Given the description of an element on the screen output the (x, y) to click on. 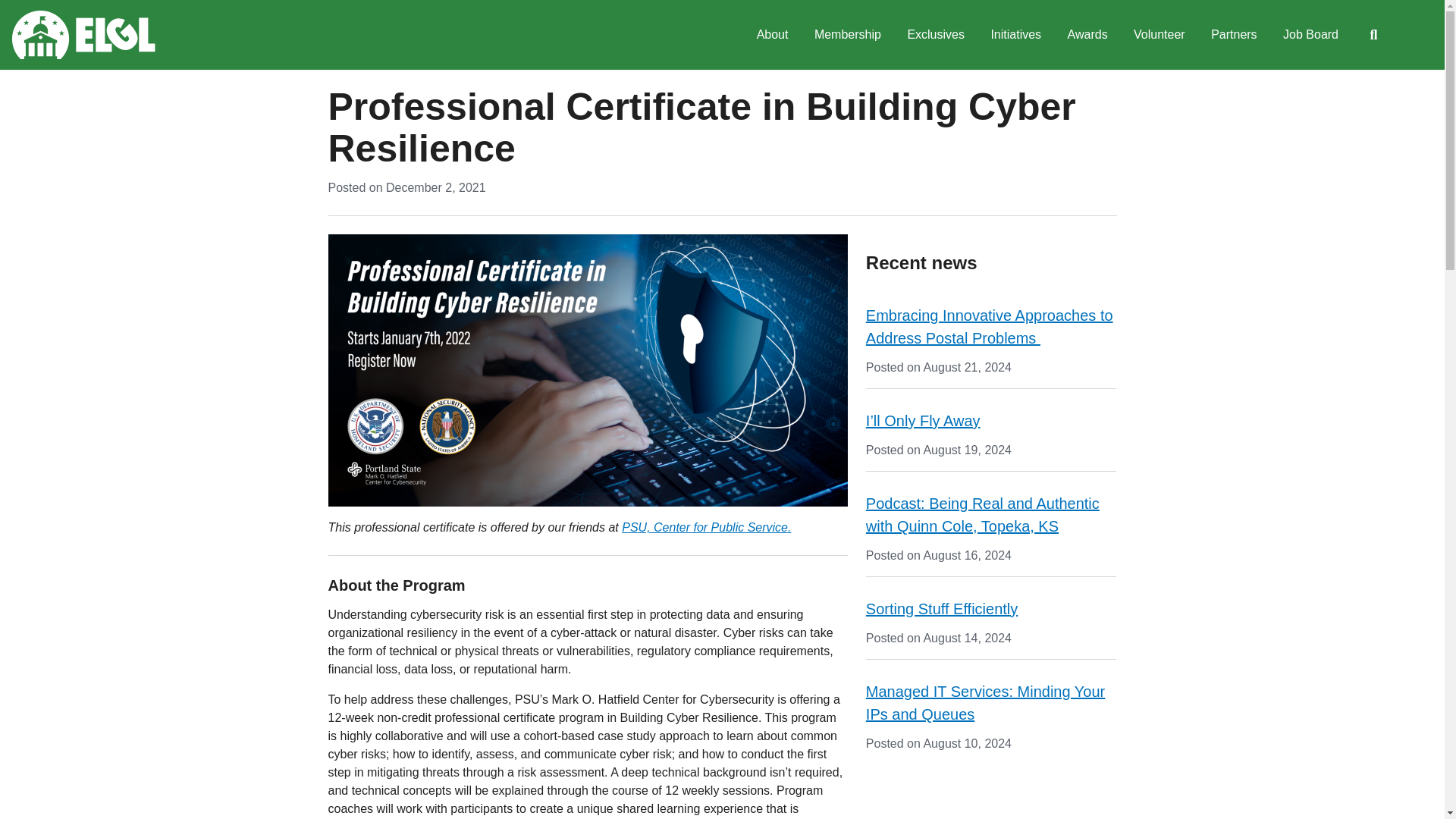
Search (1372, 35)
PSU, Center for Public Service. (705, 526)
Sorting Stuff Efficiently (941, 608)
Awards (1088, 34)
Membership (847, 34)
Embracing Innovative Approaches to Address Postal Problems  (989, 326)
Job Board (1310, 34)
Home (83, 34)
Initiatives (1015, 34)
